Given the description of an element on the screen output the (x, y) to click on. 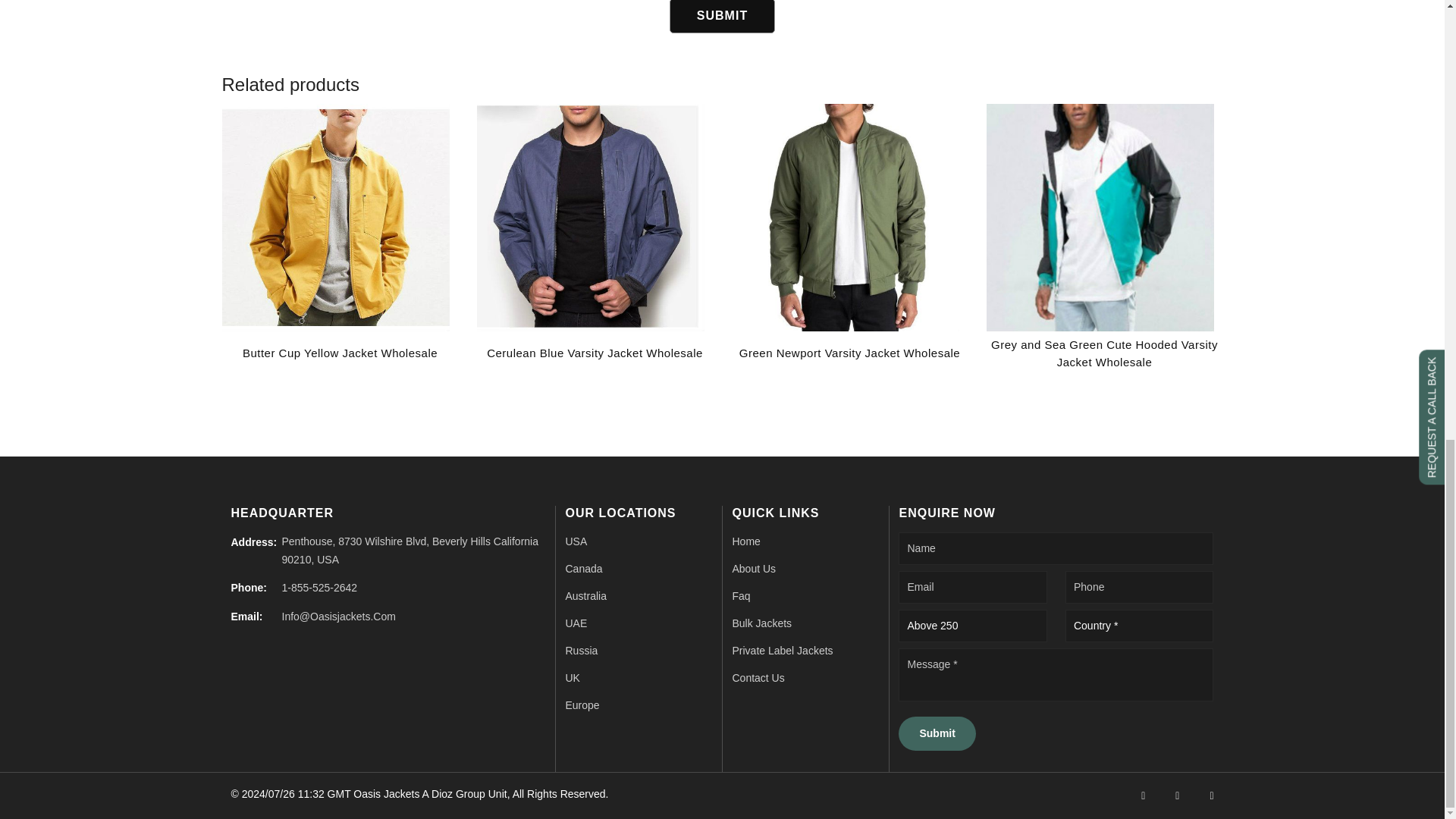
Submit (936, 733)
Submit (721, 16)
